Given the description of an element on the screen output the (x, y) to click on. 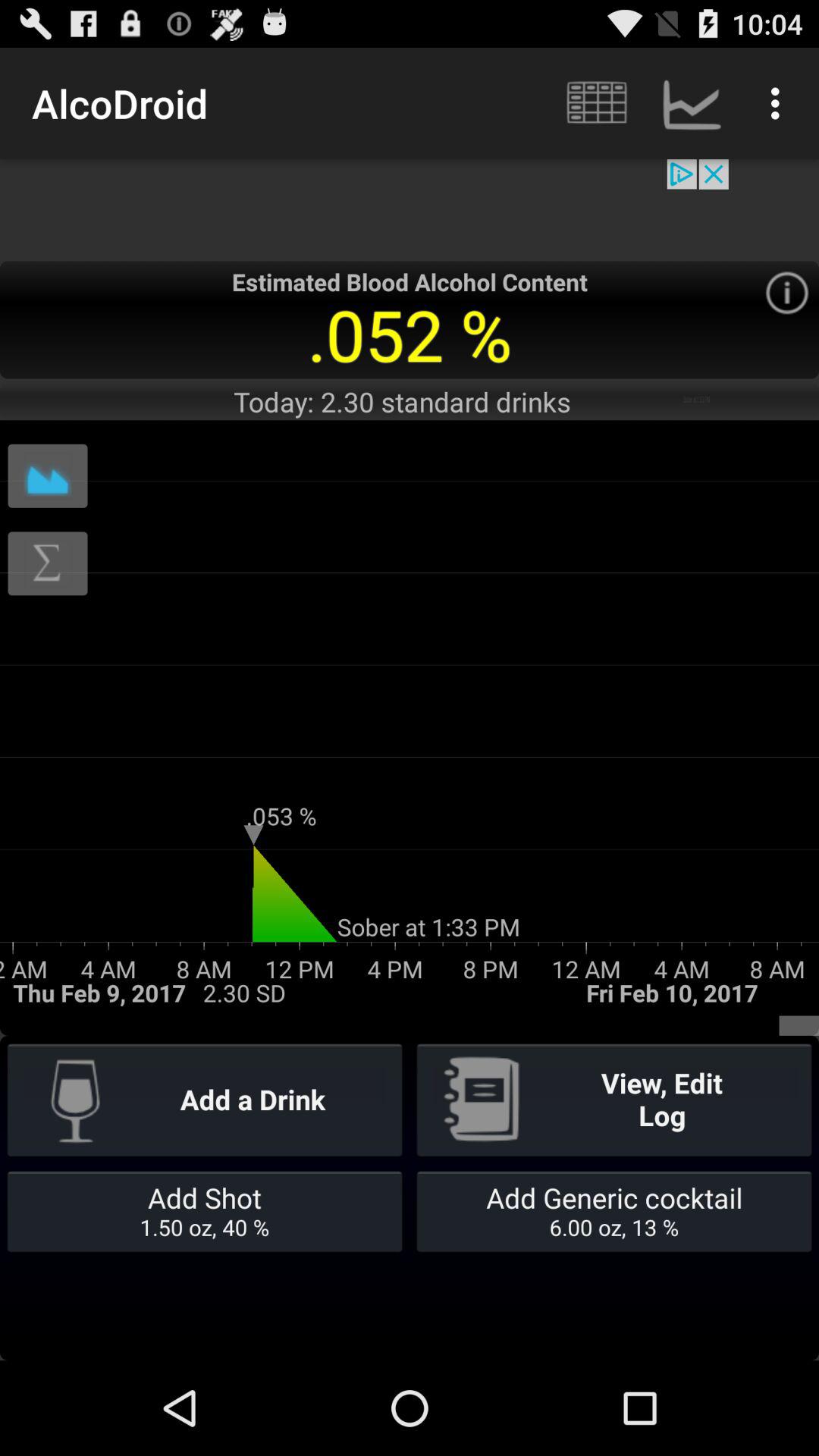
advertisement (409, 208)
